Given the description of an element on the screen output the (x, y) to click on. 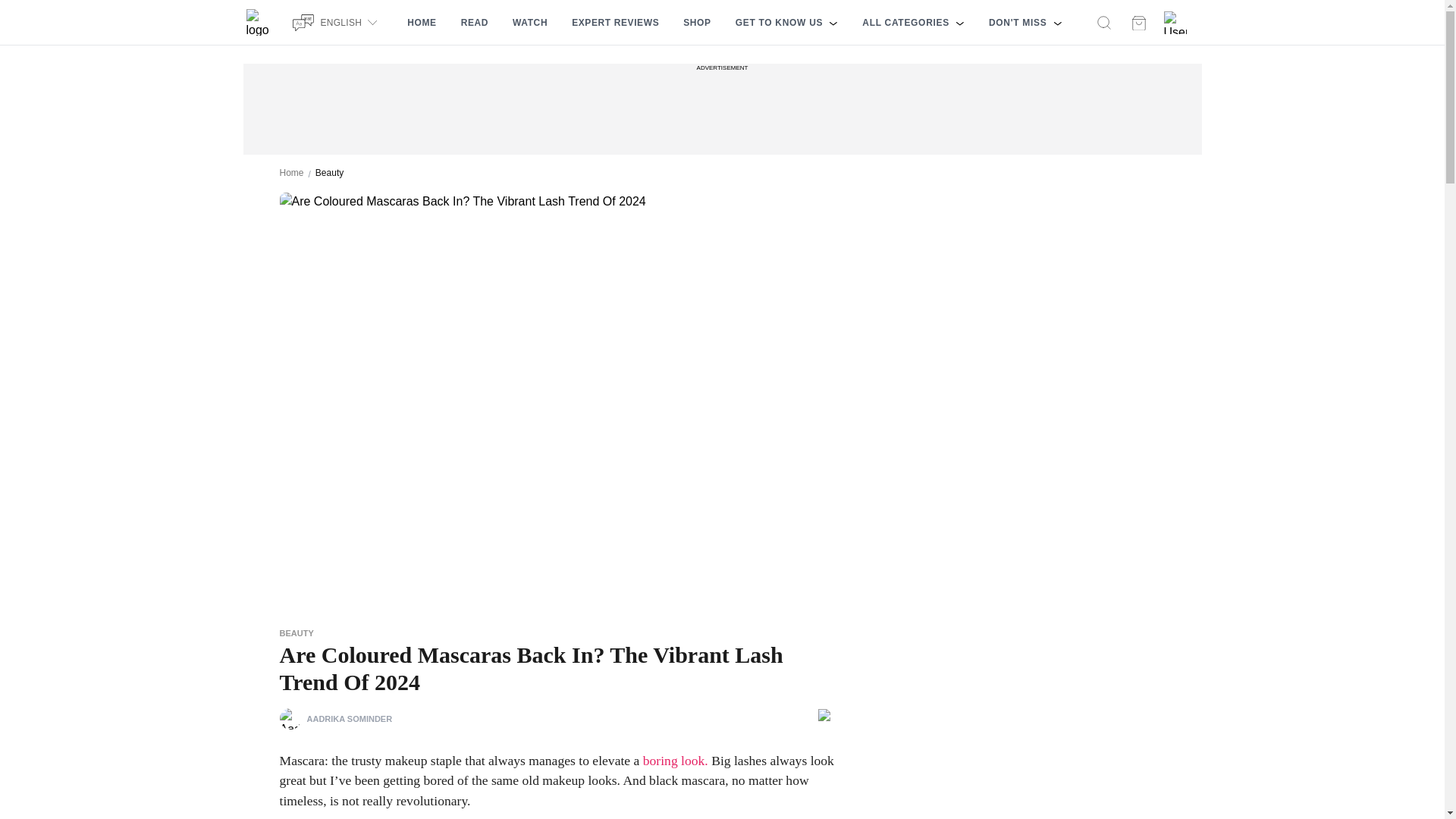
Home (290, 173)
Aadrika Sominder (289, 718)
SHOP (696, 22)
WATCH (529, 22)
EXPERT REVIEWS (615, 22)
boring look. (675, 760)
BEAUTY (296, 633)
READ (474, 22)
ENGLISH (337, 22)
HOME (421, 22)
